Given the description of an element on the screen output the (x, y) to click on. 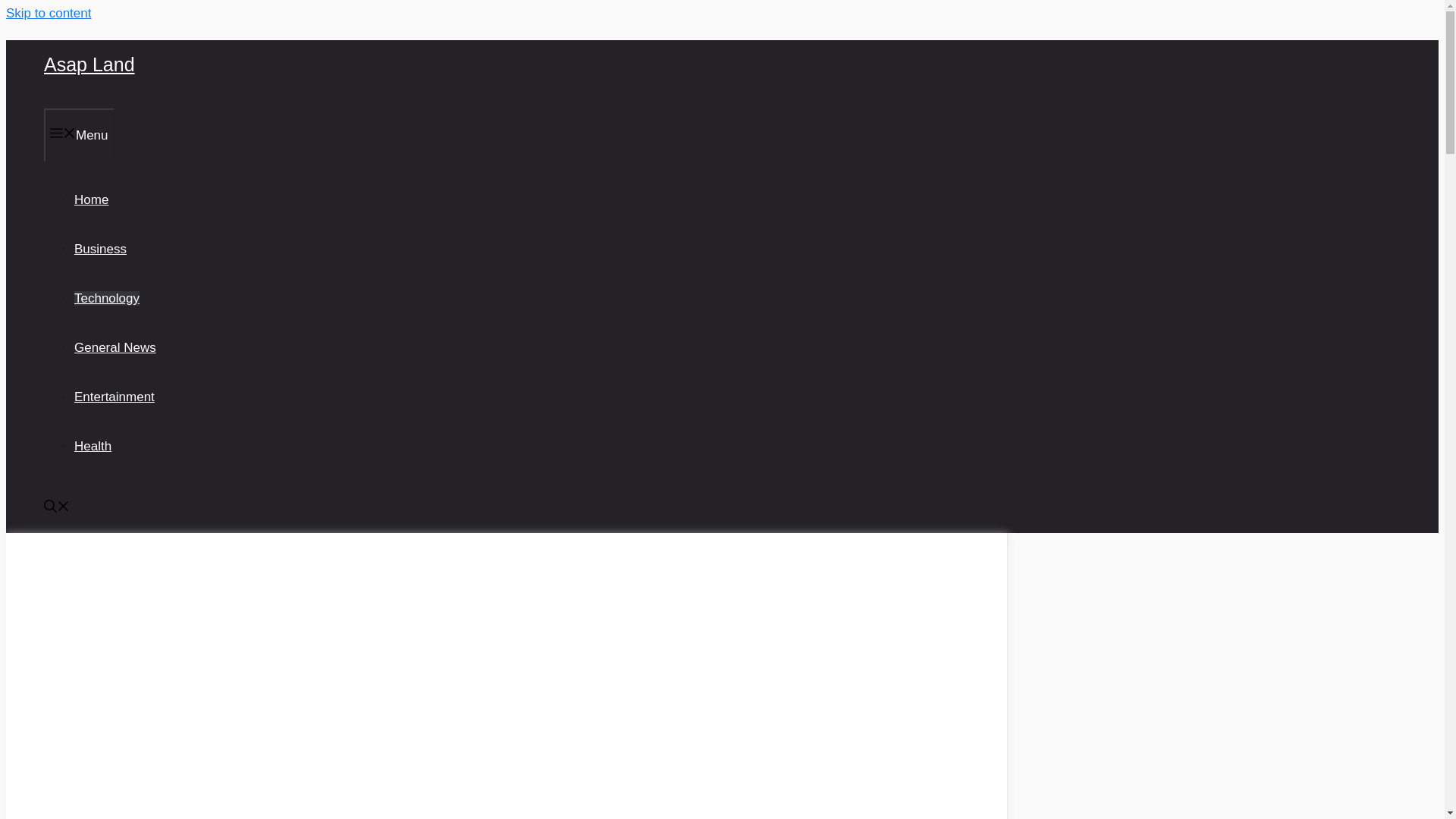
Business (100, 248)
Menu (79, 135)
Asap Land (89, 64)
Skip to content (47, 12)
Home (90, 199)
Entertainment (114, 396)
Health (93, 445)
Skip to content (47, 12)
Technology (106, 298)
General News (114, 347)
